Given the description of an element on the screen output the (x, y) to click on. 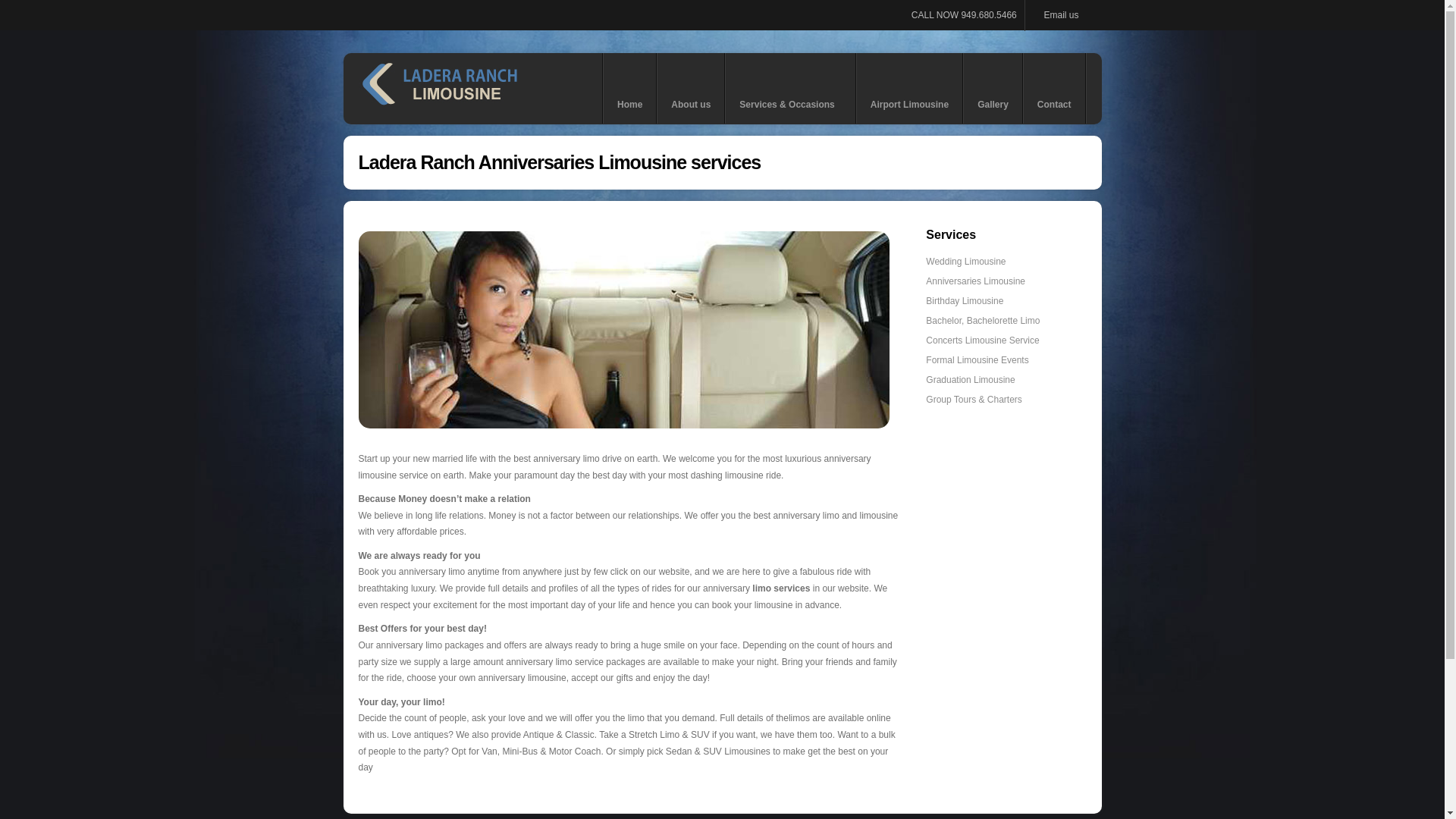
Birthday Limousine (964, 300)
Ladera Ranch Limousine Service (623, 329)
Wedding Limousine (966, 261)
CALL NOW 949.680.5466 (964, 15)
Ladera Ranch Limousine  (438, 88)
Email us (1058, 15)
Concerts Limousine Service (982, 339)
Graduation Limousine (970, 379)
Airport Limousine (909, 88)
About us (690, 88)
Gallery (992, 88)
Home (629, 88)
Contact (1054, 88)
Anniversaries Limousine (975, 281)
Bachelor, Bachelorette Limo (982, 320)
